Given the description of an element on the screen output the (x, y) to click on. 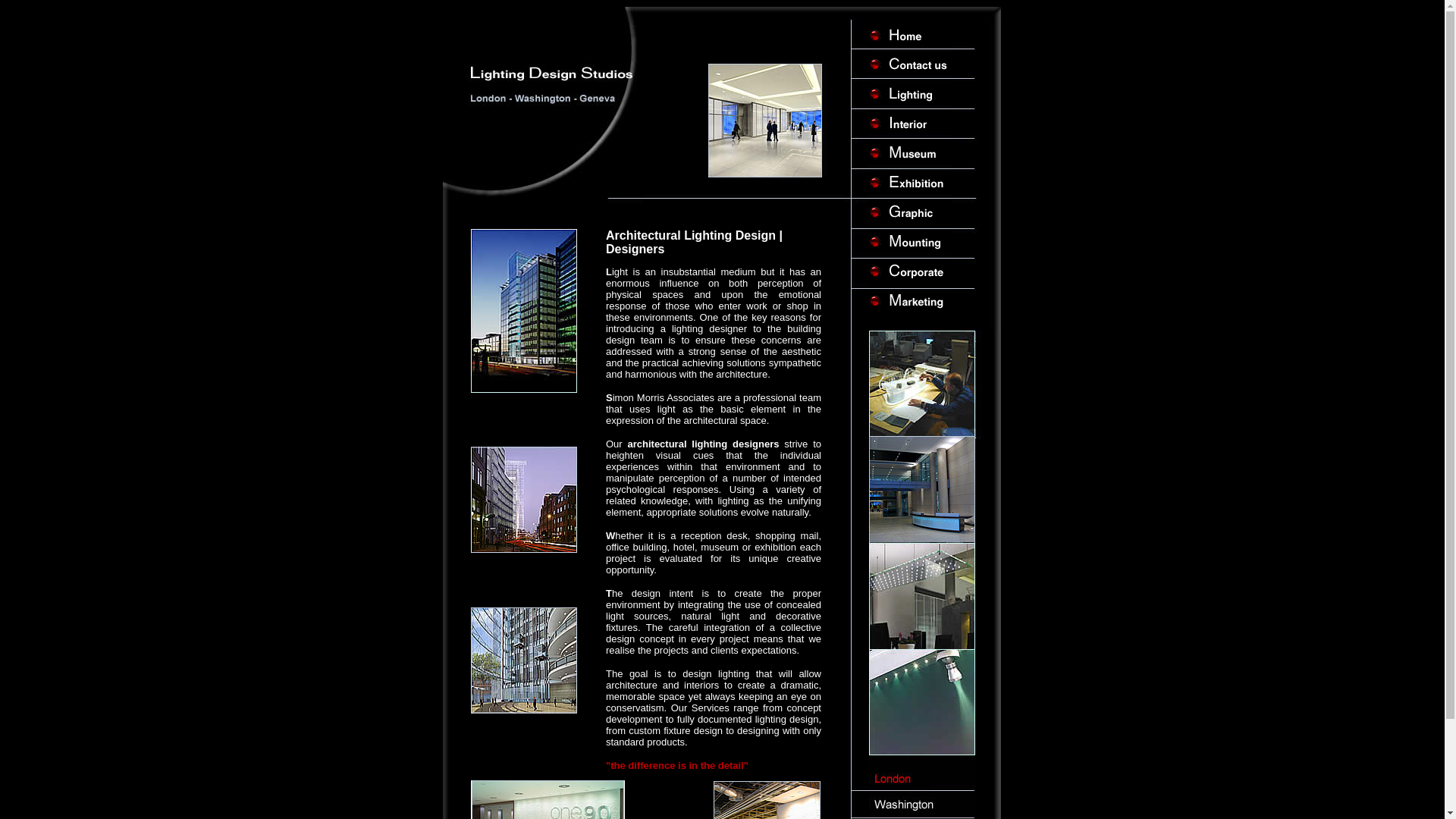
Architectural Lighting Designers (922, 382)
Northgate - London - Architectural Lighting Designers (523, 499)
30 Gresham Street - Architectural Lighting Designers (922, 488)
Architectural Lighting Designers (764, 120)
